Given the description of an element on the screen output the (x, y) to click on. 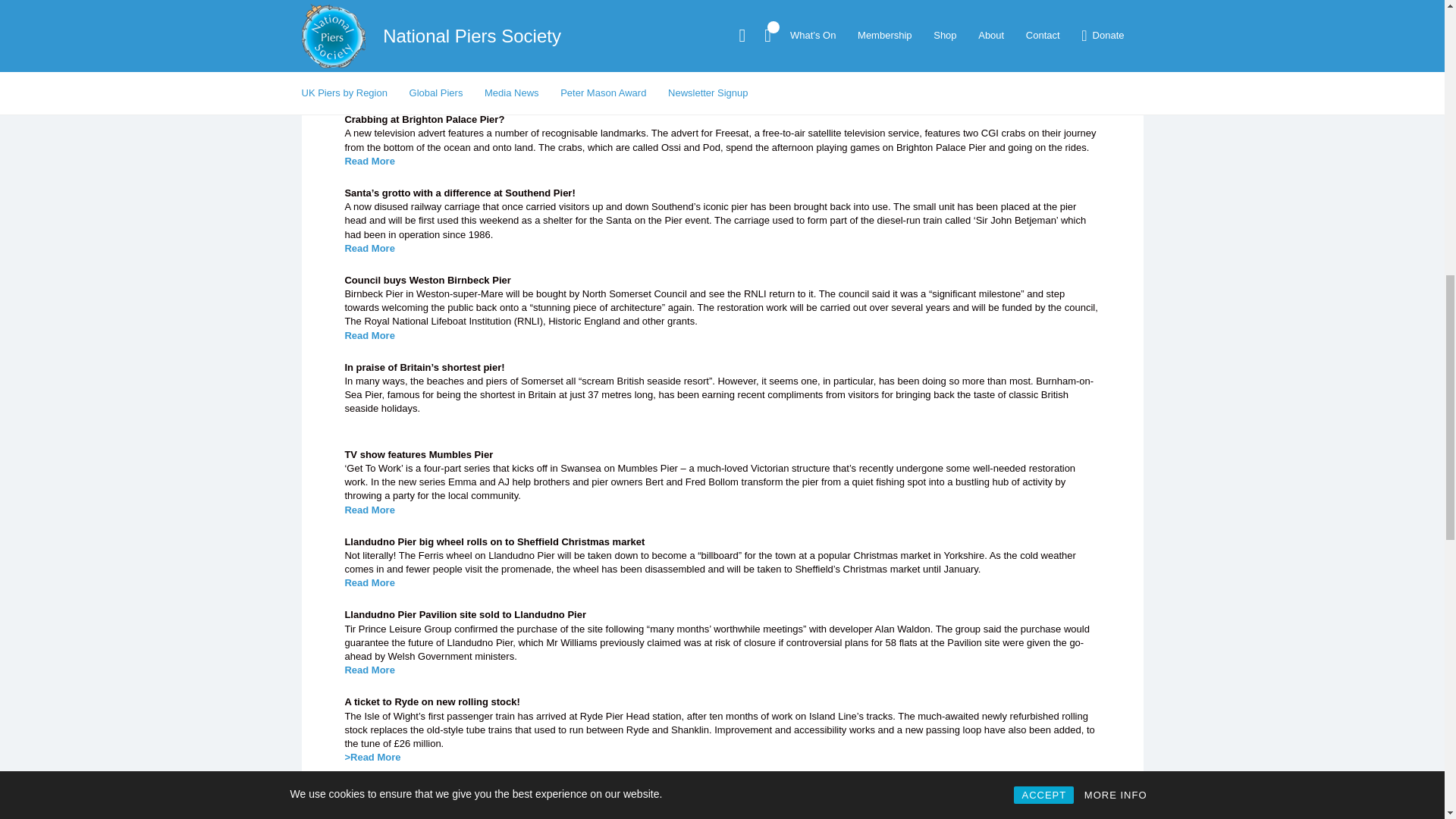
Read More (368, 13)
